Given the description of an element on the screen output the (x, y) to click on. 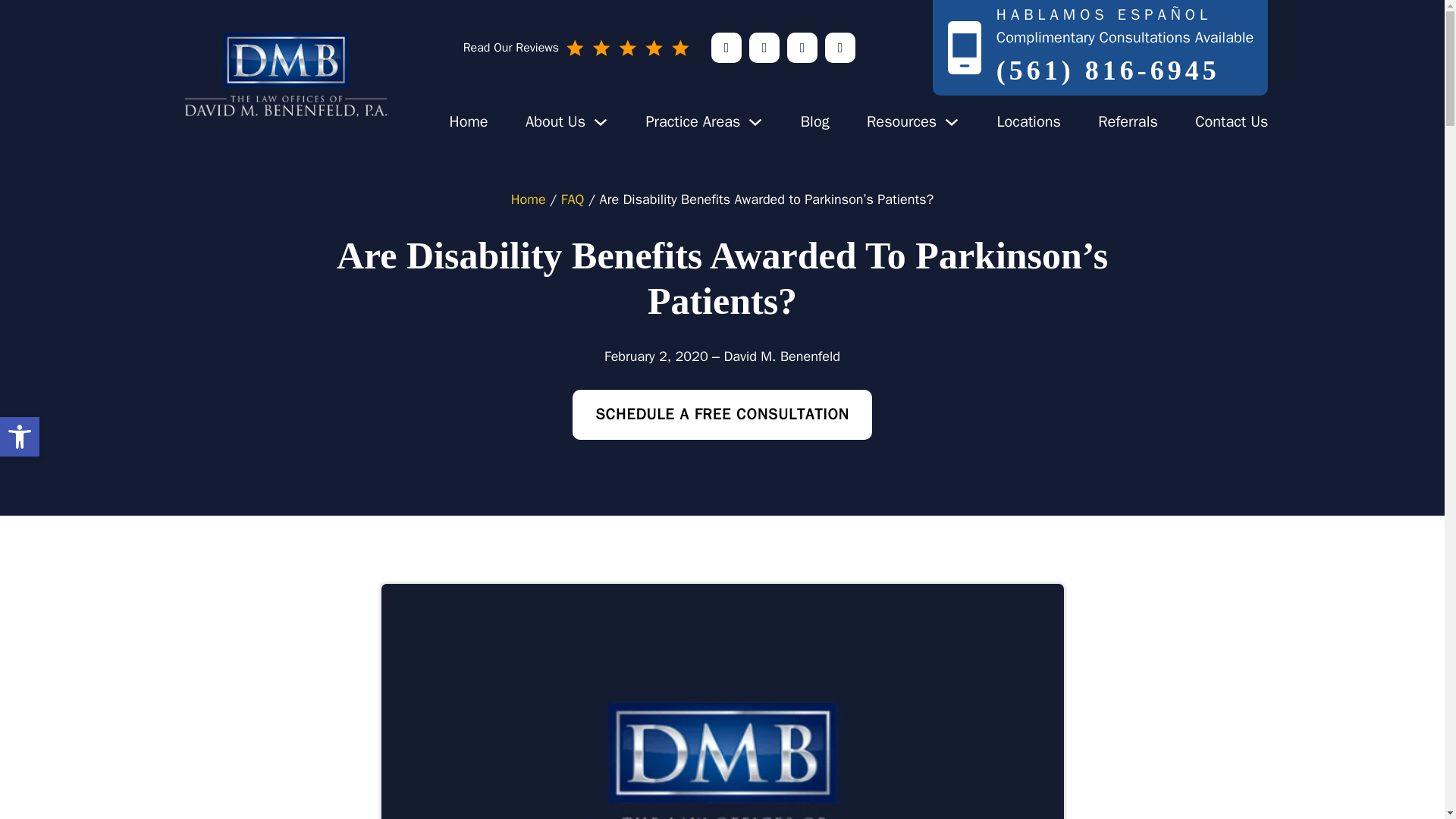
Injury Blog (814, 121)
Accessibility Tools (19, 436)
Read Our Reviews (576, 47)
Contact Us (19, 436)
Resources (1231, 121)
Home (901, 121)
Accessibility Tools (467, 121)
Practice Areas (19, 436)
Practice Areas (692, 121)
